Given the description of an element on the screen output the (x, y) to click on. 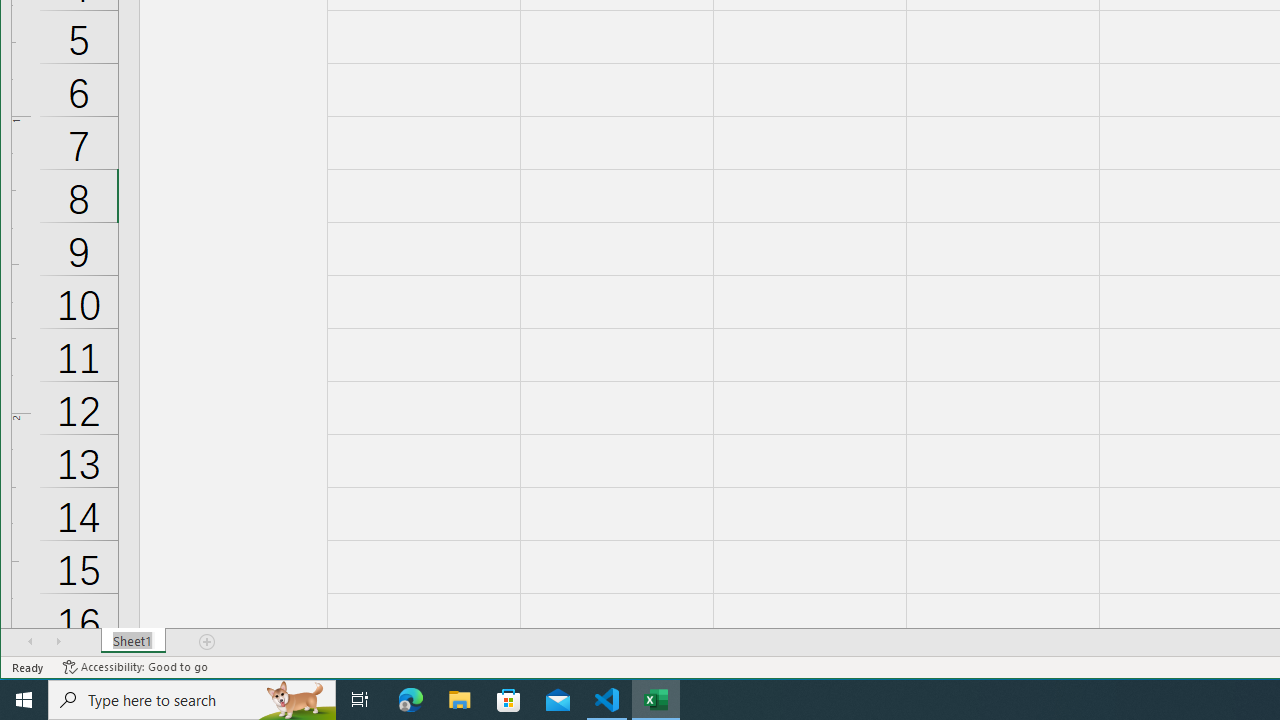
Type here to search (191, 699)
